Given the description of an element on the screen output the (x, y) to click on. 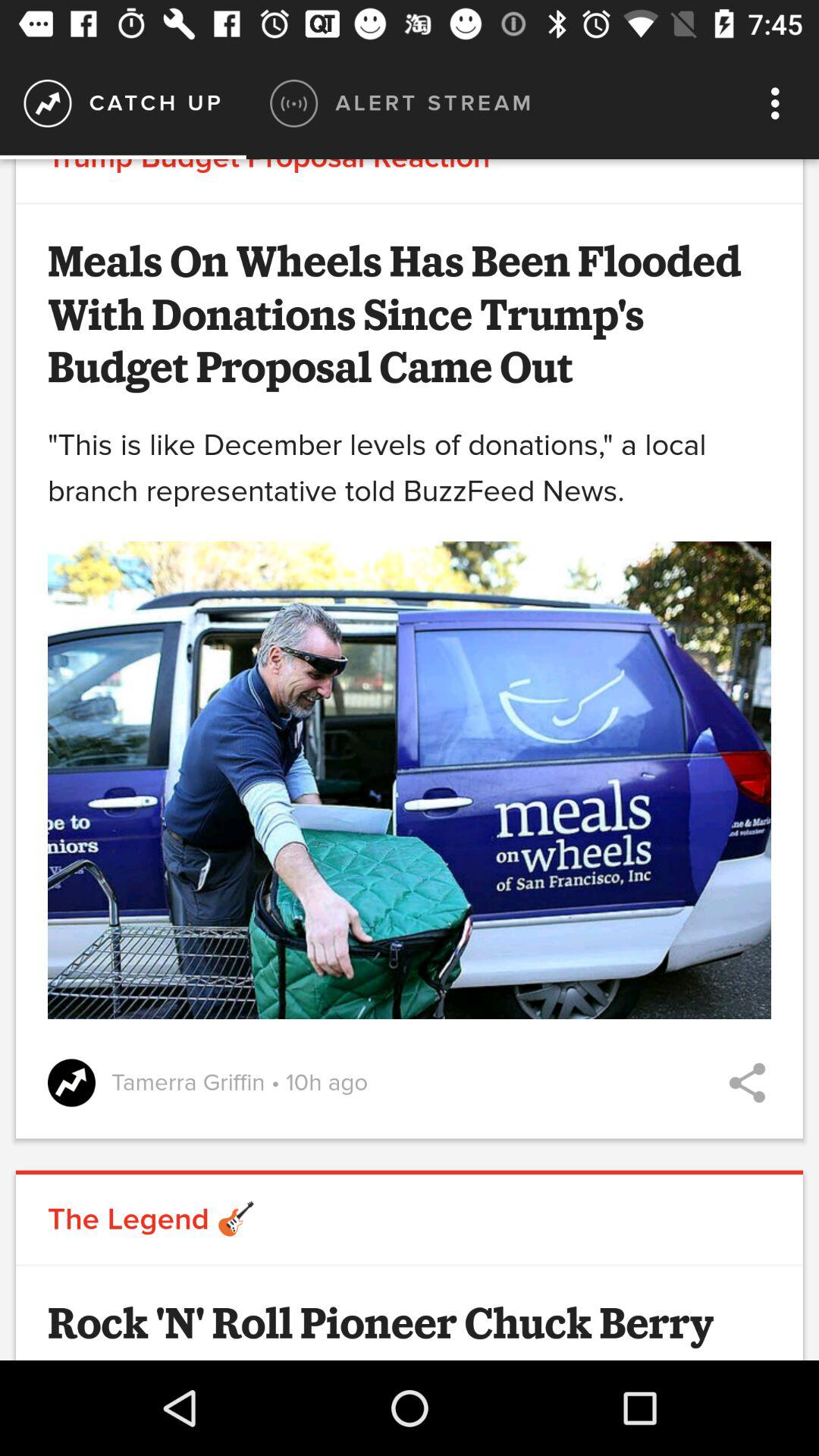
press icon at the top right corner (779, 103)
